Given the description of an element on the screen output the (x, y) to click on. 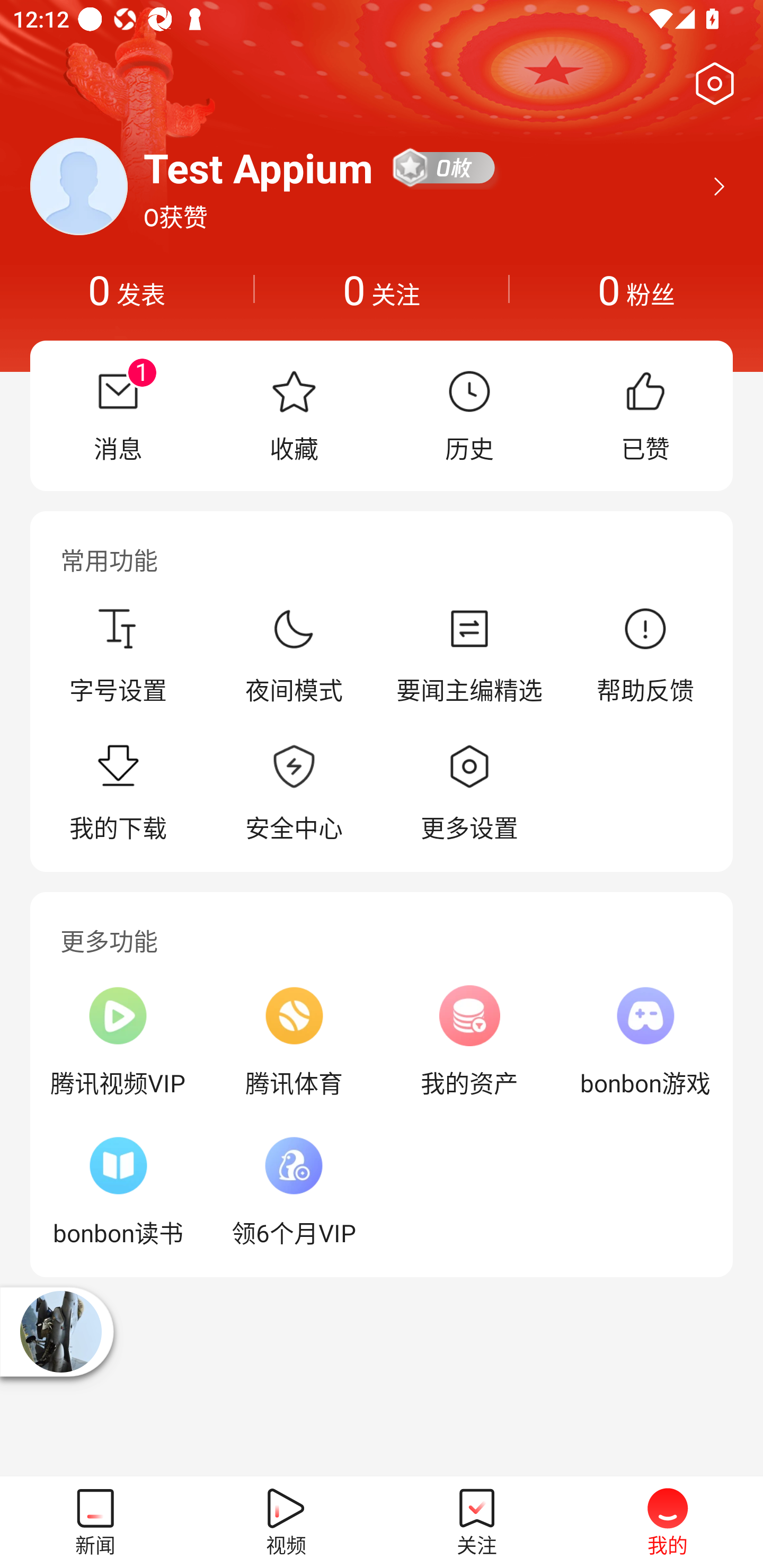
设置，可点击 (711, 83)
头像，可点击 (78, 186)
用户：Test Appium，可点击 (258, 167)
0枚勋章，可点击 (444, 167)
0发表，可点击 (126, 288)
0关注，可点击 (381, 288)
0粉丝，可点击 (636, 288)
消息，可点击 (118, 415)
收藏，可点击 (293, 415)
历史，可点击 (469, 415)
已赞，可点击 (644, 415)
字号设置，可点击 (118, 655)
夜间模式，可点击 (293, 655)
要闻主编精选，可点击 (469, 655)
帮助反馈，可点击 (644, 655)
我的下载，可点击 (118, 793)
安全中心，可点击 (293, 793)
更多设置，可点击 (469, 793)
腾讯视频VIP，可点击 (118, 1041)
腾讯体育，可点击 (293, 1041)
我的资产，可点击 (469, 1041)
bonbon游戏，可点击 (644, 1041)
bonbon读书，可点击 (118, 1191)
领6个月VIP，可点击 (293, 1191)
播放器 (60, 1331)
